Given the description of an element on the screen output the (x, y) to click on. 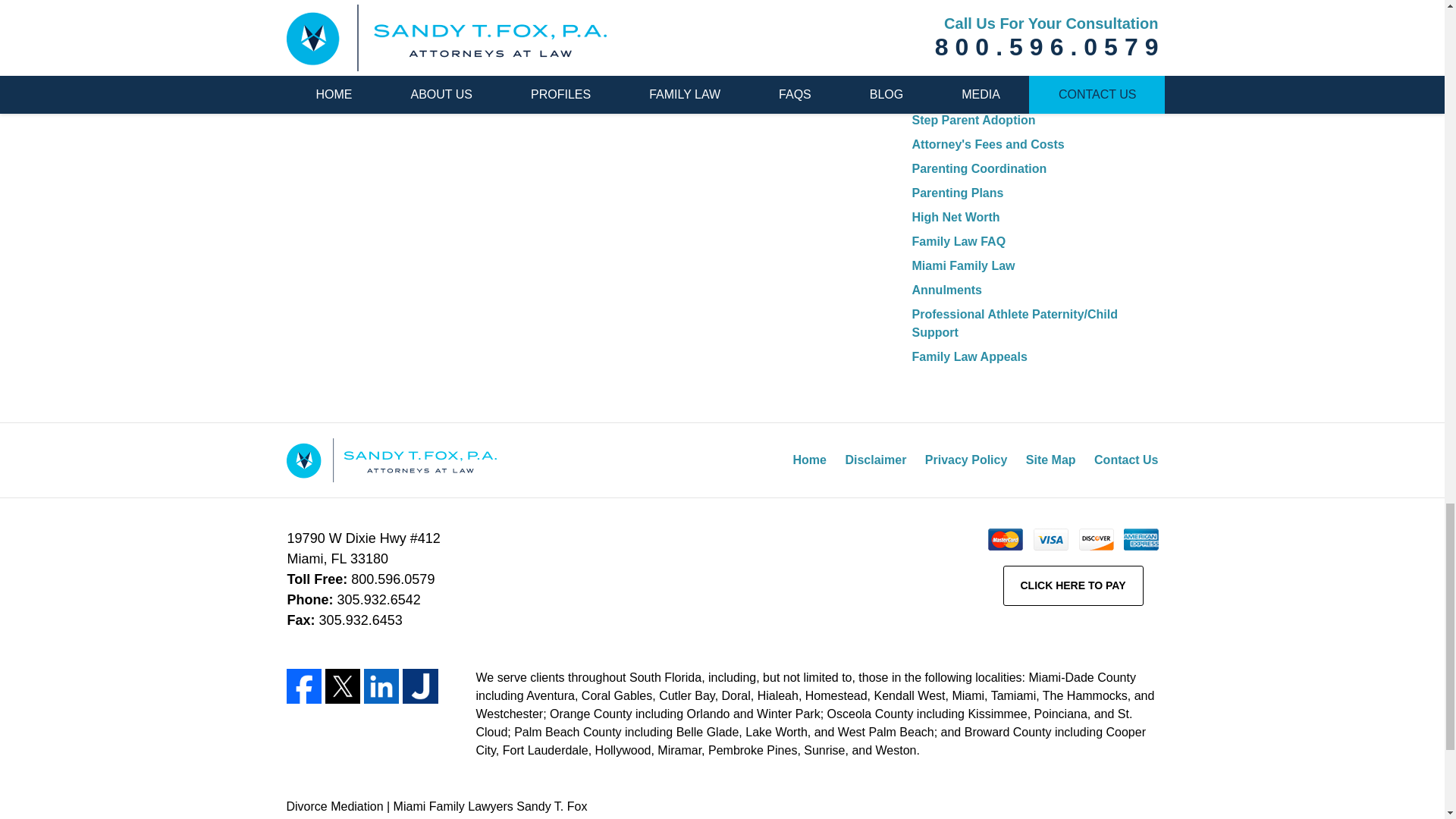
Twitter (341, 686)
LinkedIn (381, 686)
Justia (420, 686)
Facebook (303, 686)
